Given the description of an element on the screen output the (x, y) to click on. 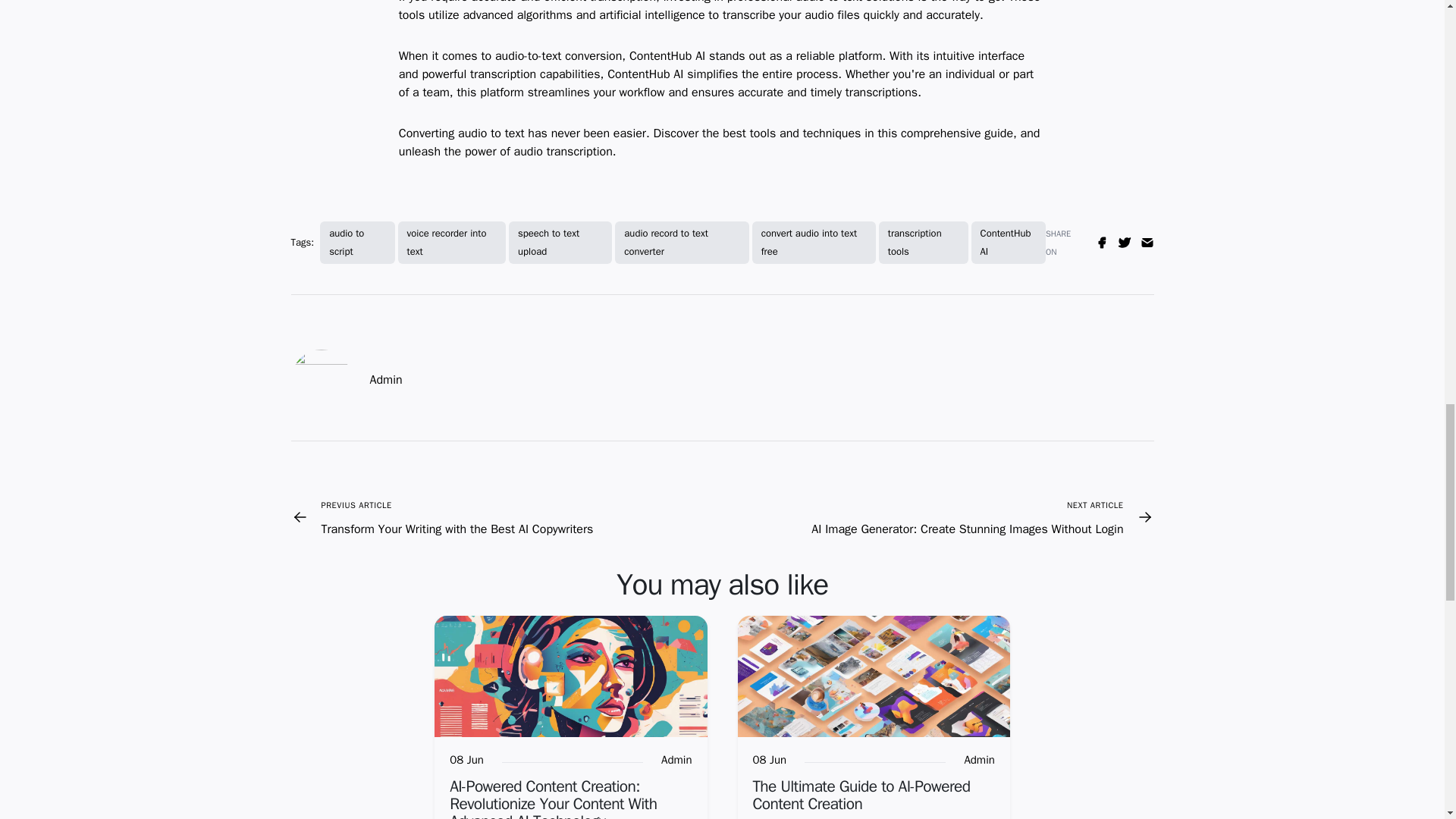
transcription tools (923, 242)
speech to text upload (559, 242)
The Ultimate Guide to AI-Powered Content Creation (860, 795)
audio record to text converter (681, 242)
Admin (386, 380)
ContentHub AI (1008, 242)
convert audio into text free (814, 242)
audio to script (357, 242)
voice recorder into text (451, 242)
Admin (676, 760)
Admin (978, 760)
